Given the description of an element on the screen output the (x, y) to click on. 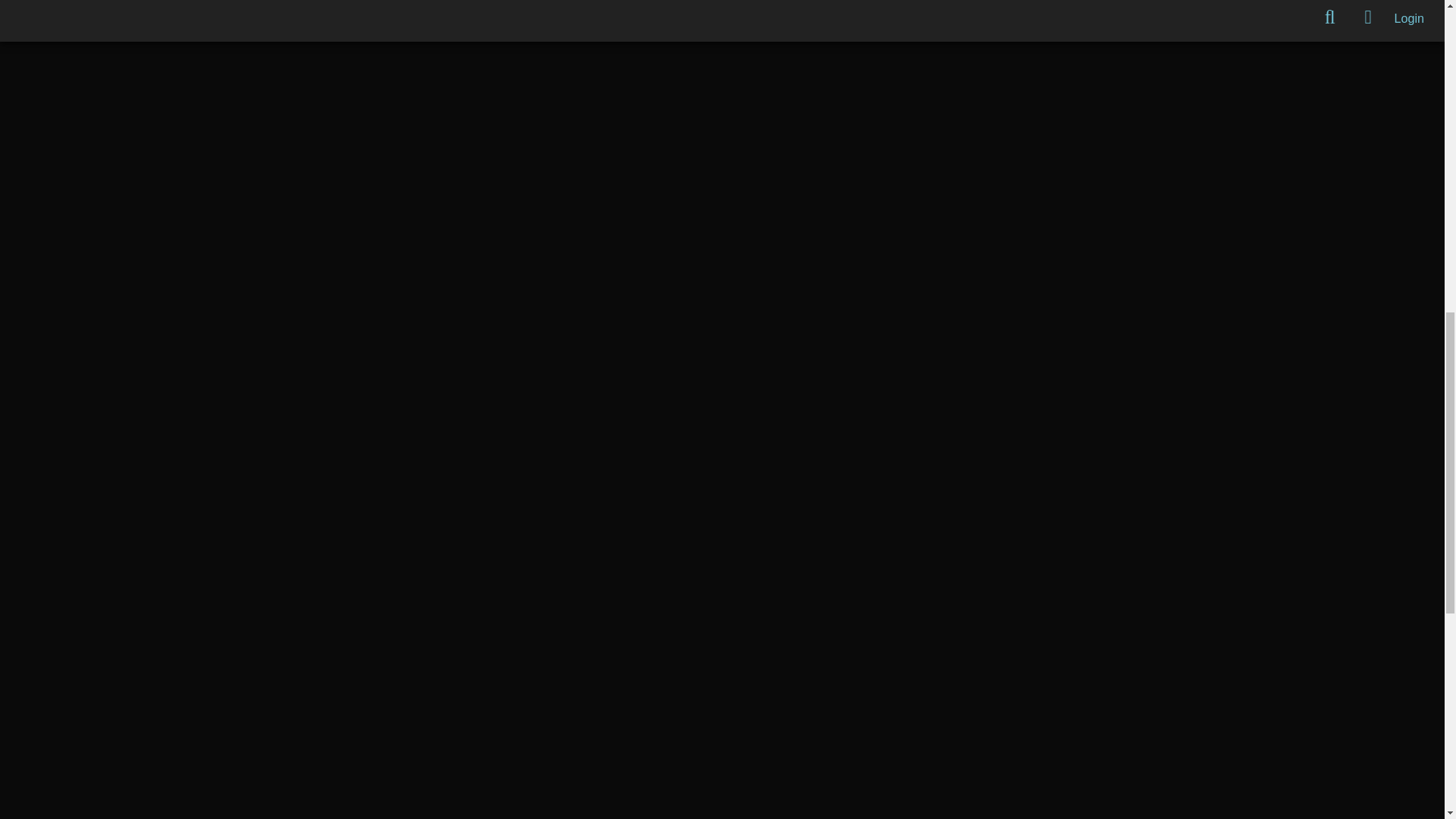
Apps (1368, 17)
Sign in (1409, 17)
Login (1409, 17)
